Given the description of an element on the screen output the (x, y) to click on. 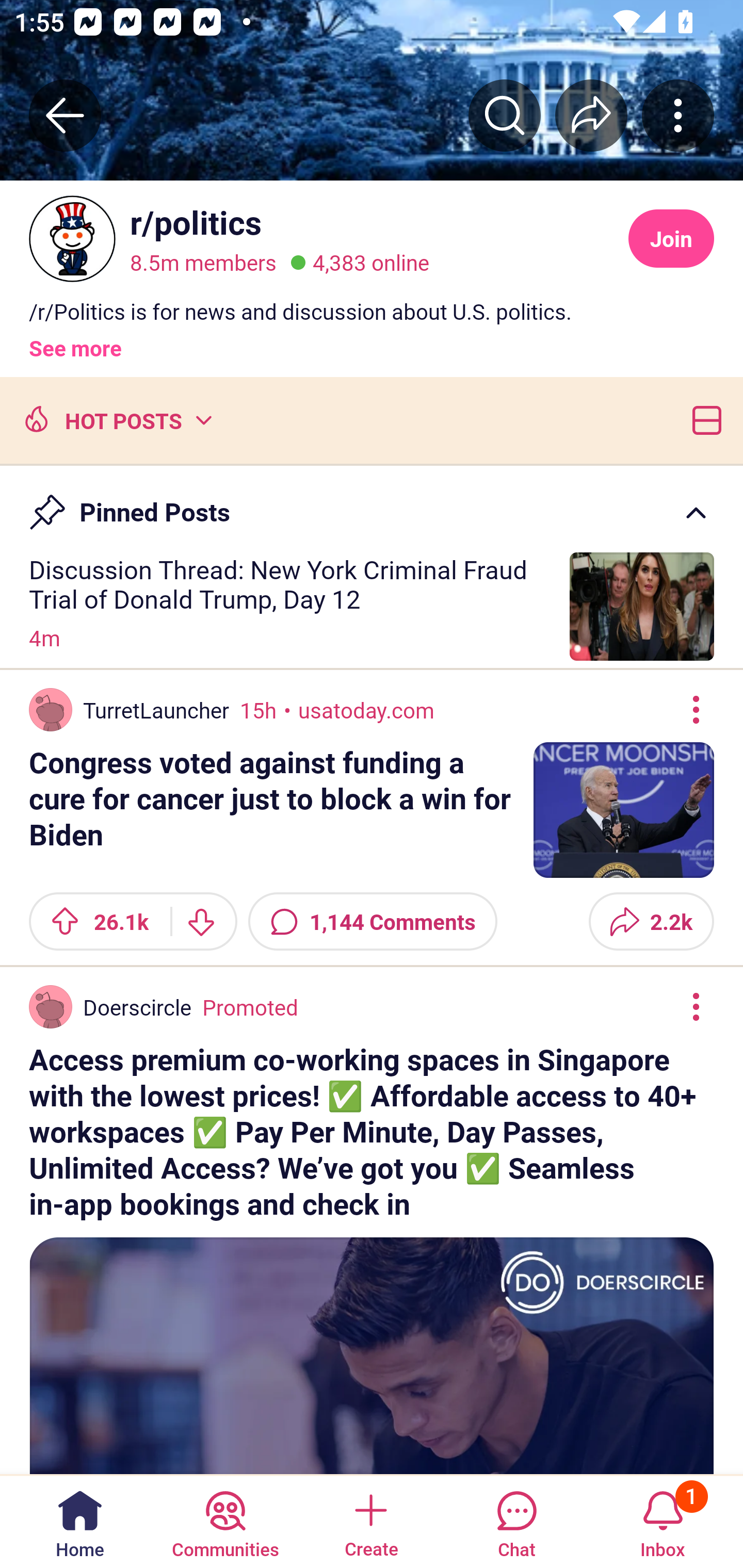
Back (64, 115)
Search r/﻿politics (504, 115)
Share r/﻿politics (591, 115)
More community actions (677, 115)
See more (74, 340)
Hot posts HOT POSTS (116, 419)
Card (703, 419)
Pin Pinned Posts Caret (371, 503)
Home (80, 1520)
Communities (225, 1520)
Create a post Create (370, 1520)
Chat (516, 1520)
Inbox, has 1 notification 1 Inbox (662, 1520)
